Given the description of an element on the screen output the (x, y) to click on. 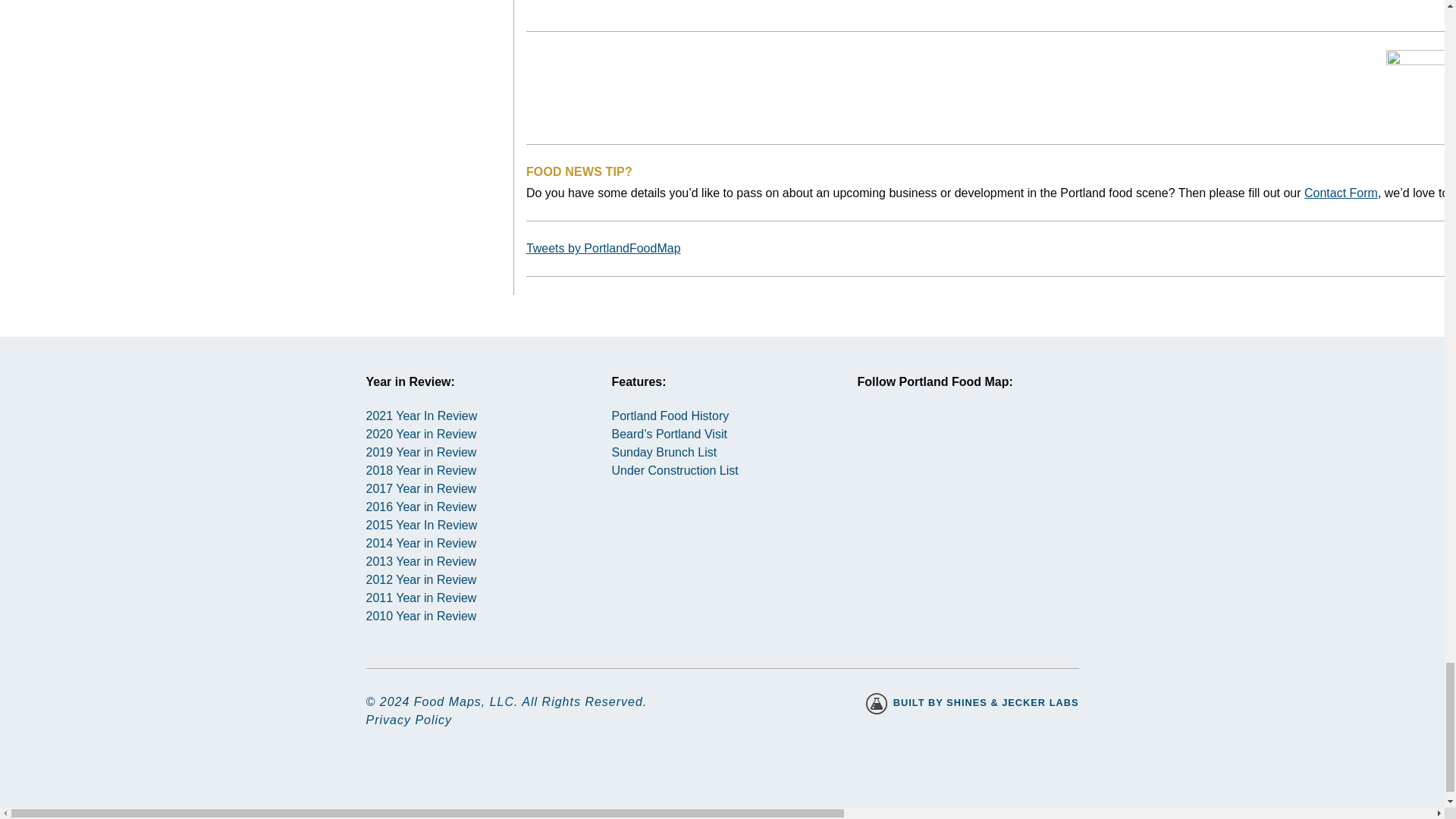
RSS icon (992, 441)
Instagram icon (882, 441)
Twitter icon (938, 441)
